Given the description of an element on the screen output the (x, y) to click on. 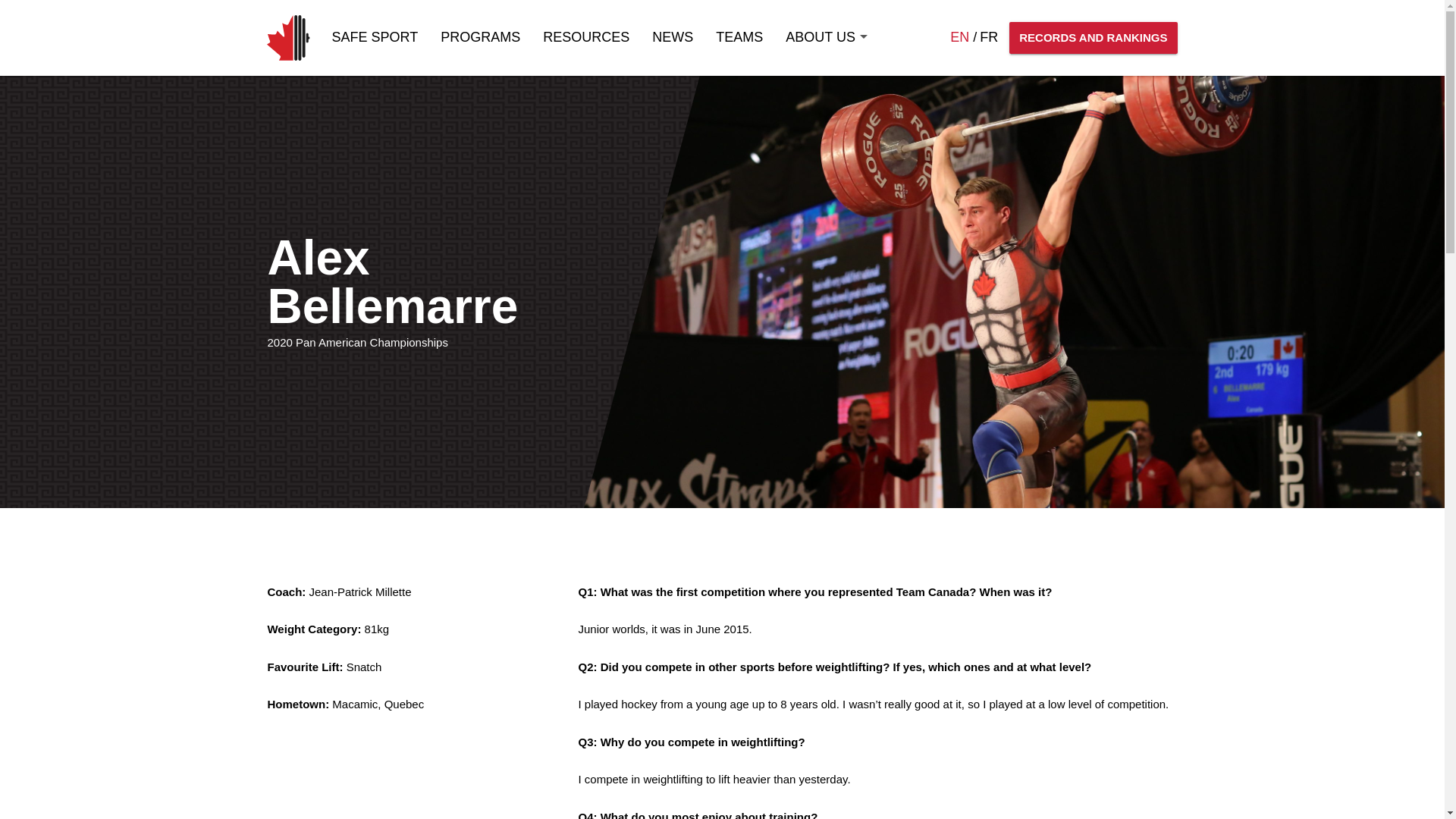
PROGRAMS (480, 37)
SAFE SPORT (374, 37)
NEWS (672, 37)
EN (959, 37)
RESOURCES (585, 37)
FR (988, 37)
RECORDS AND RANKINGS (1092, 37)
ABOUT US (826, 37)
TEAMS (739, 37)
